Given the description of an element on the screen output the (x, y) to click on. 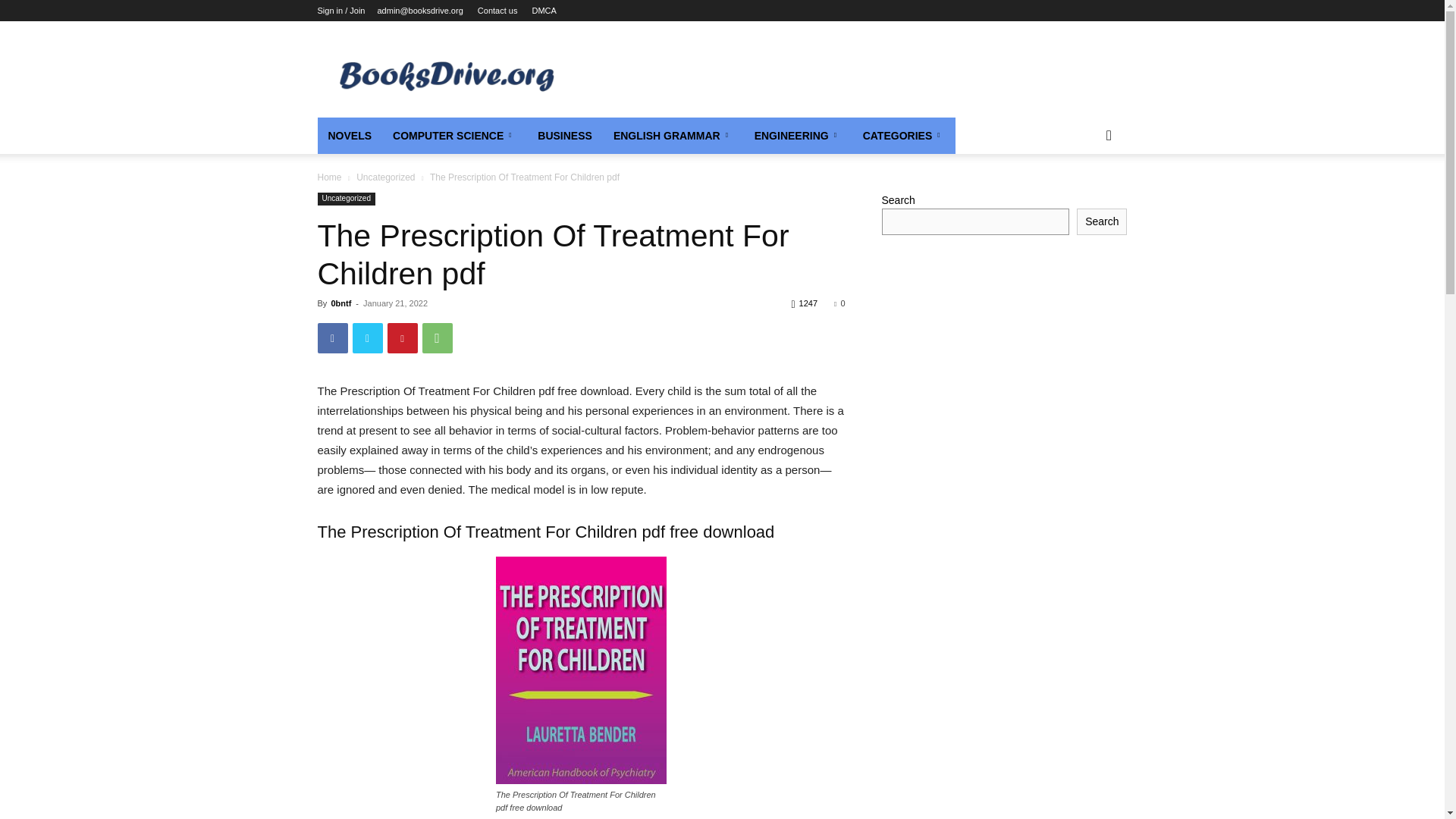
NOVELS (349, 135)
BUSINESS (564, 135)
ENGINEERING (797, 135)
COMPUTER SCIENCE (454, 135)
Twitter (366, 337)
DMCA (543, 10)
CATEGORIES (903, 135)
View all posts in Uncategorized (385, 176)
ENGLISH GRAMMAR (673, 135)
Facebook (332, 337)
Pinterest (401, 337)
Contact us (497, 10)
WhatsApp (436, 337)
